Given the description of an element on the screen output the (x, y) to click on. 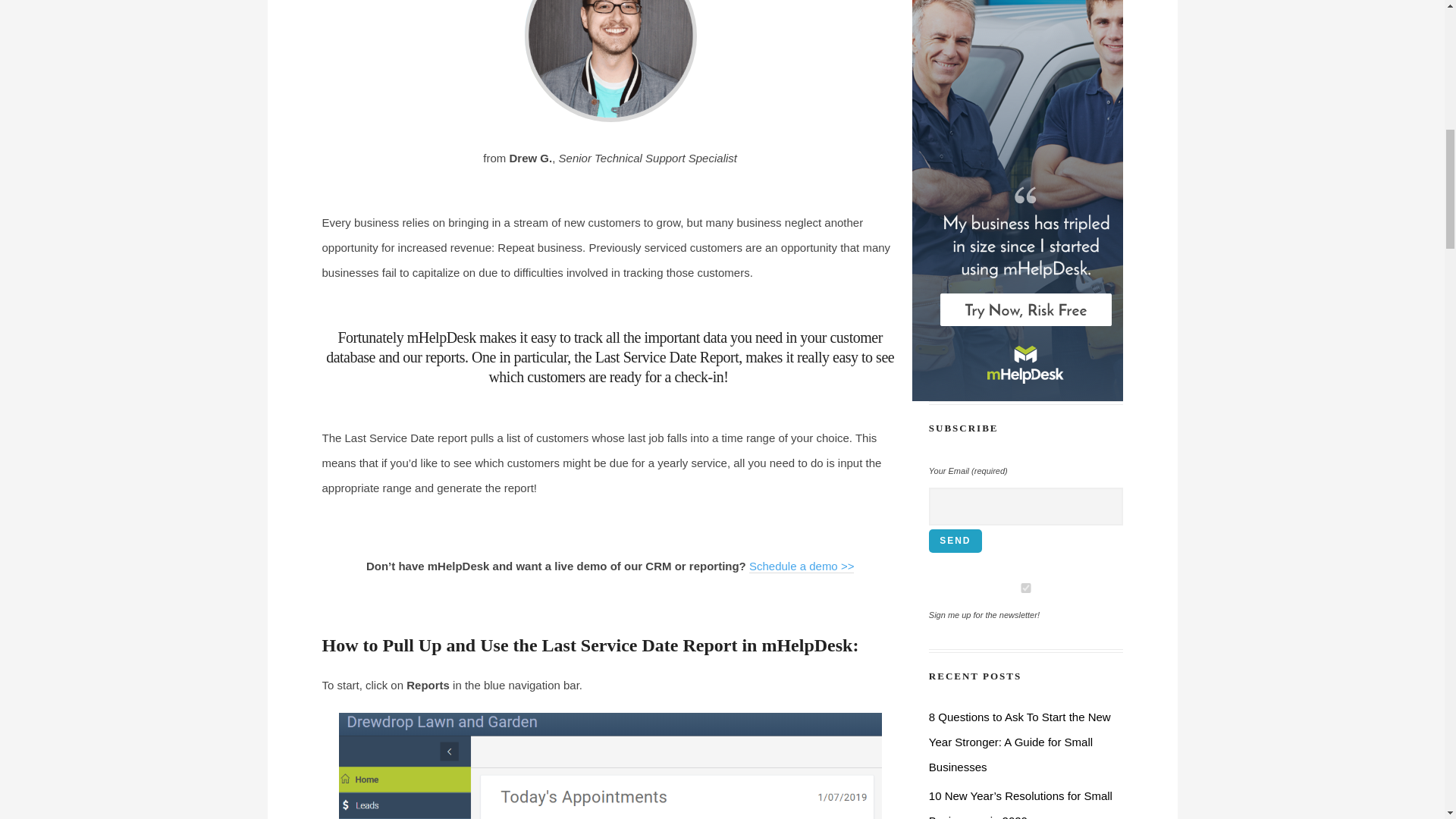
Send (954, 541)
1 (1025, 587)
